Given the description of an element on the screen output the (x, y) to click on. 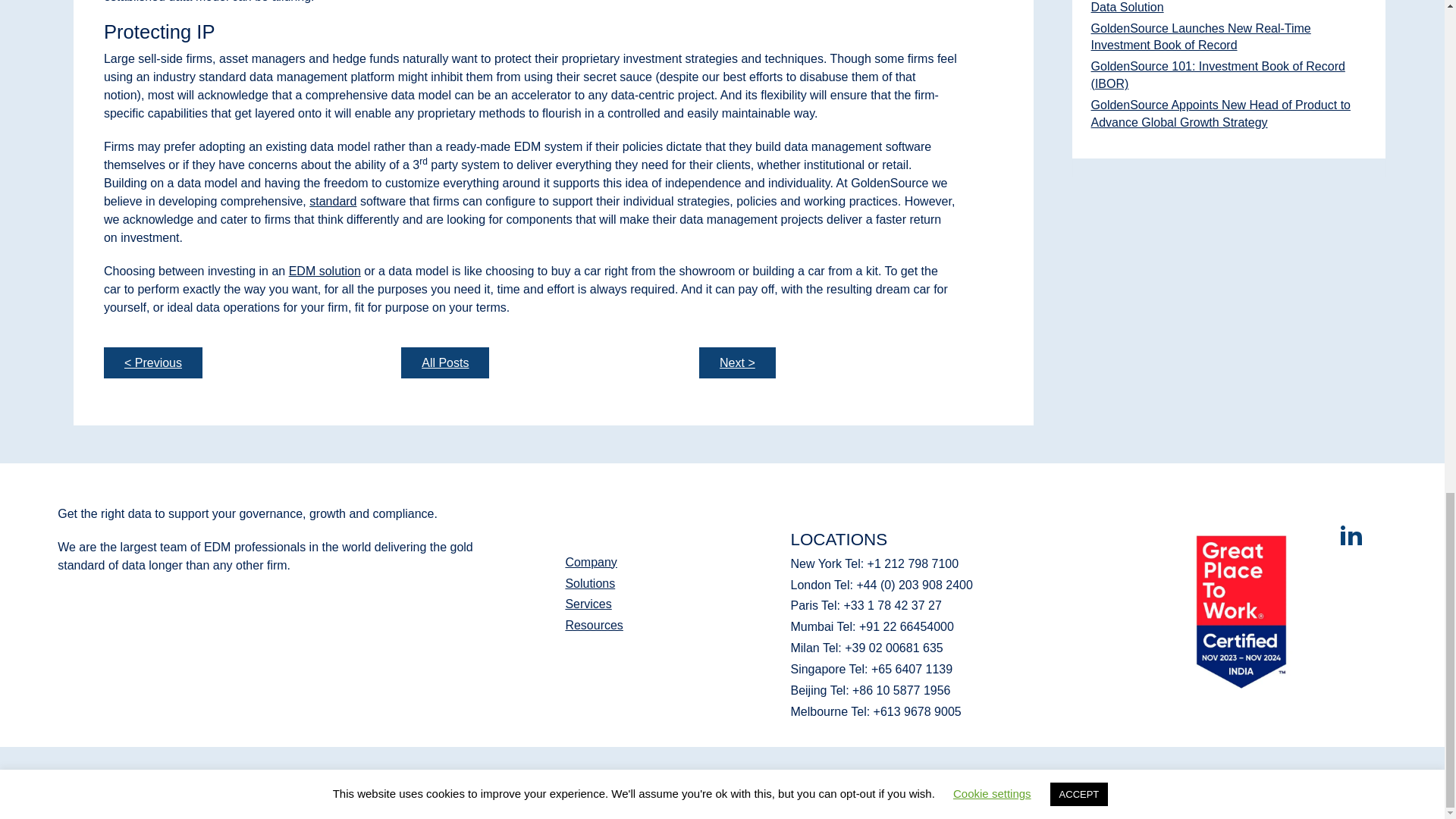
All Posts (445, 363)
